Given the description of an element on the screen output the (x, y) to click on. 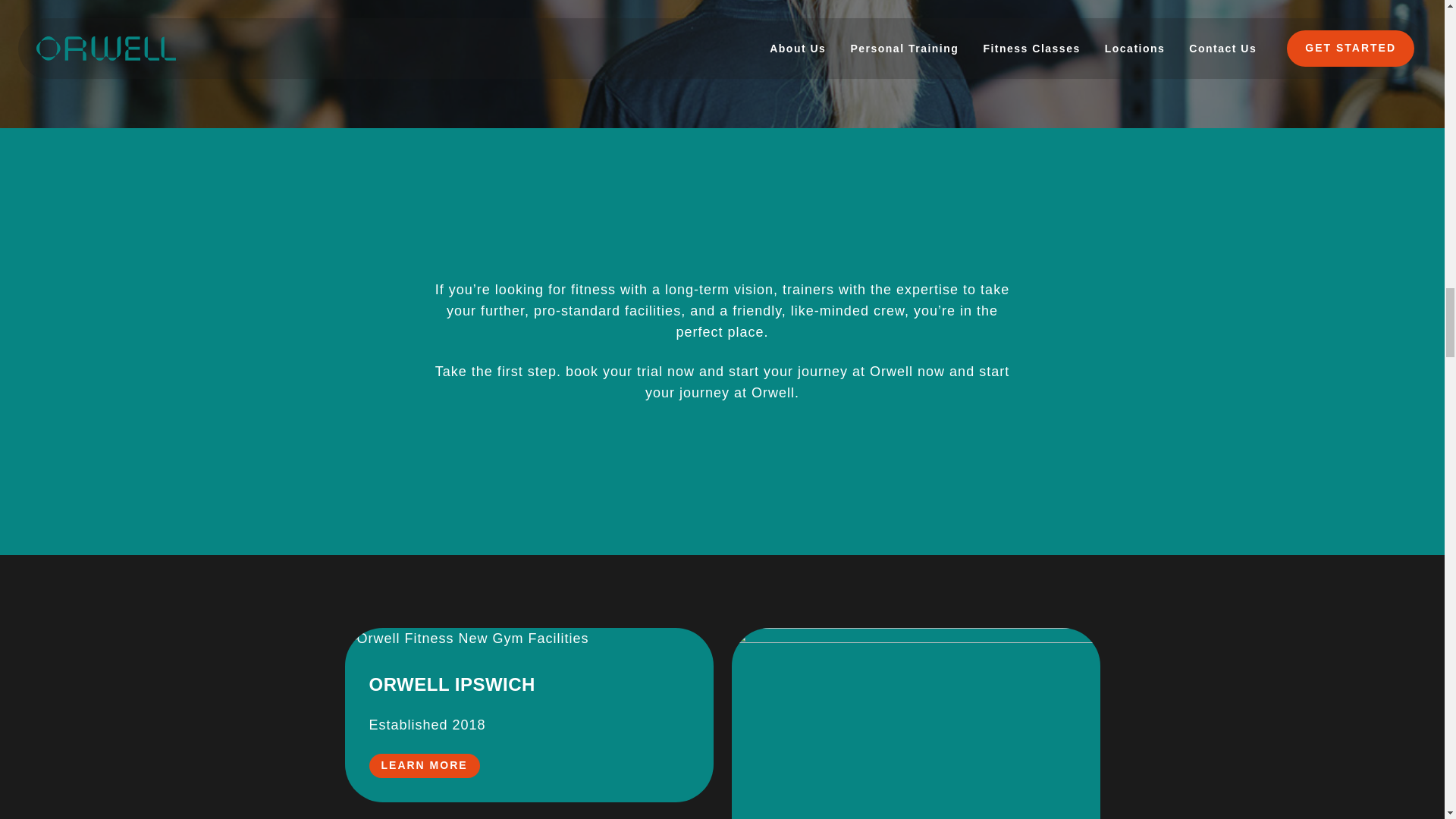
LEARN MORE (423, 765)
